Given the description of an element on the screen output the (x, y) to click on. 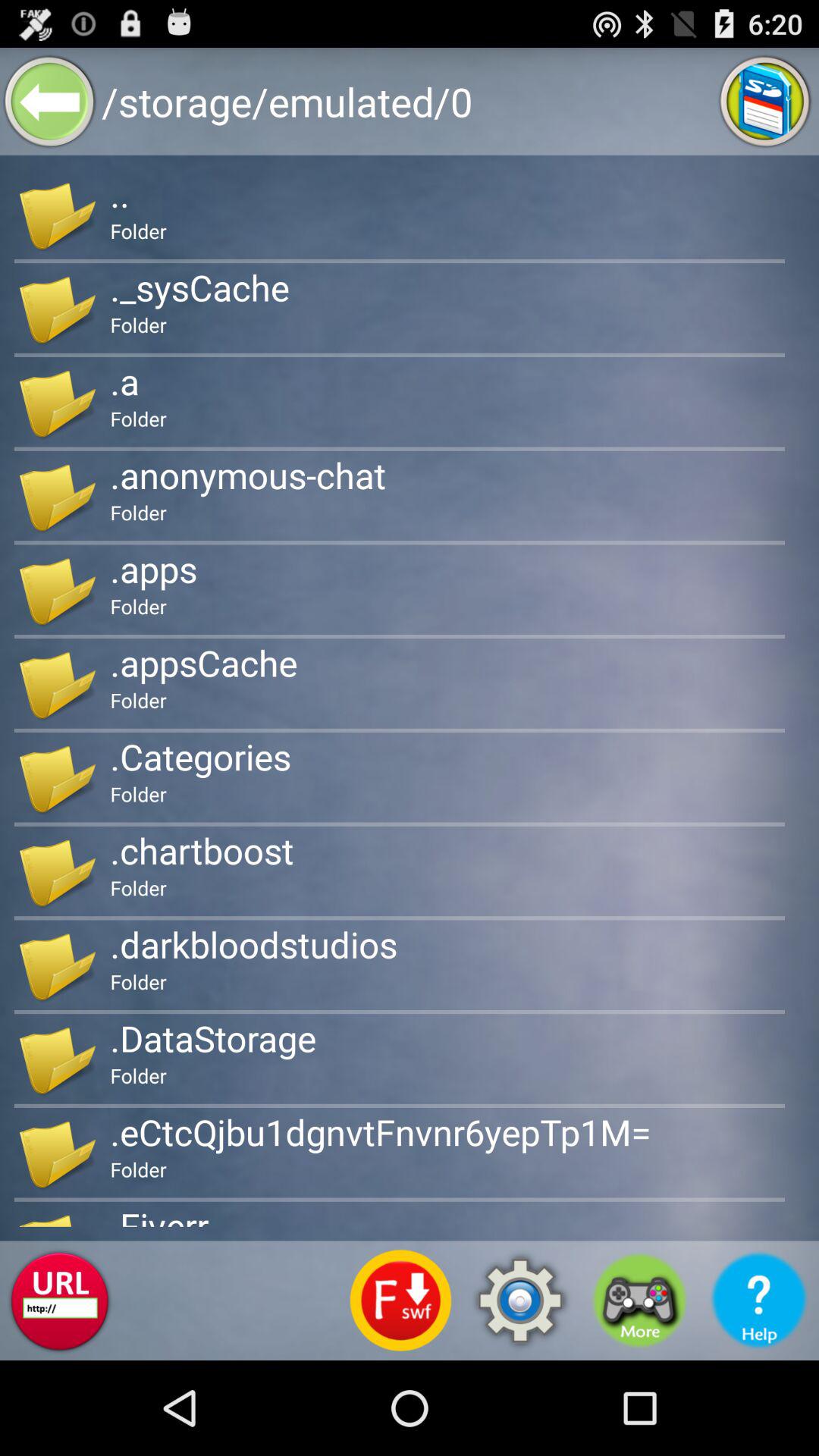
access settings (520, 1300)
